Given the description of an element on the screen output the (x, y) to click on. 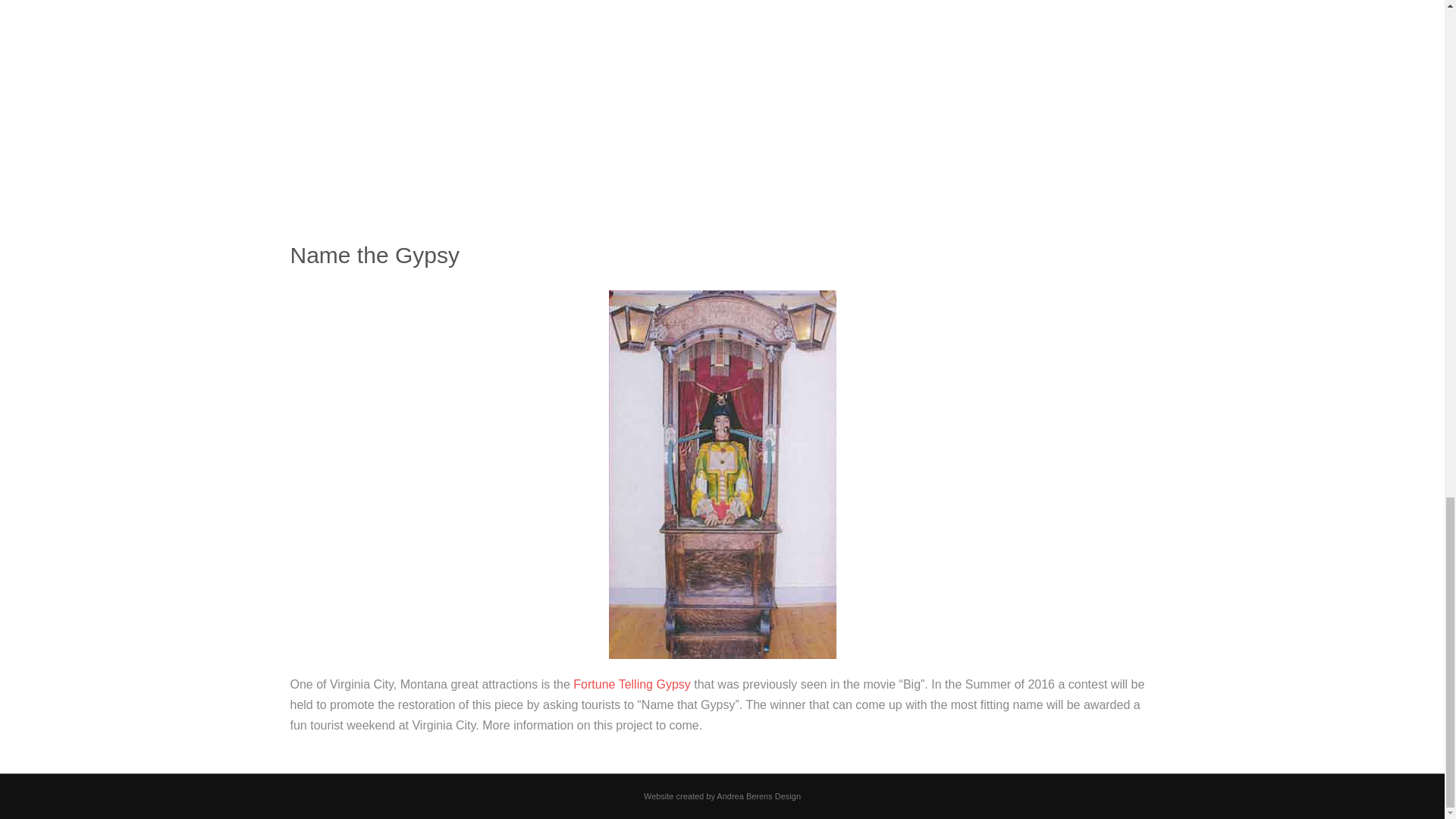
Fortune Telling Gypsy (631, 684)
